Given the description of an element on the screen output the (x, y) to click on. 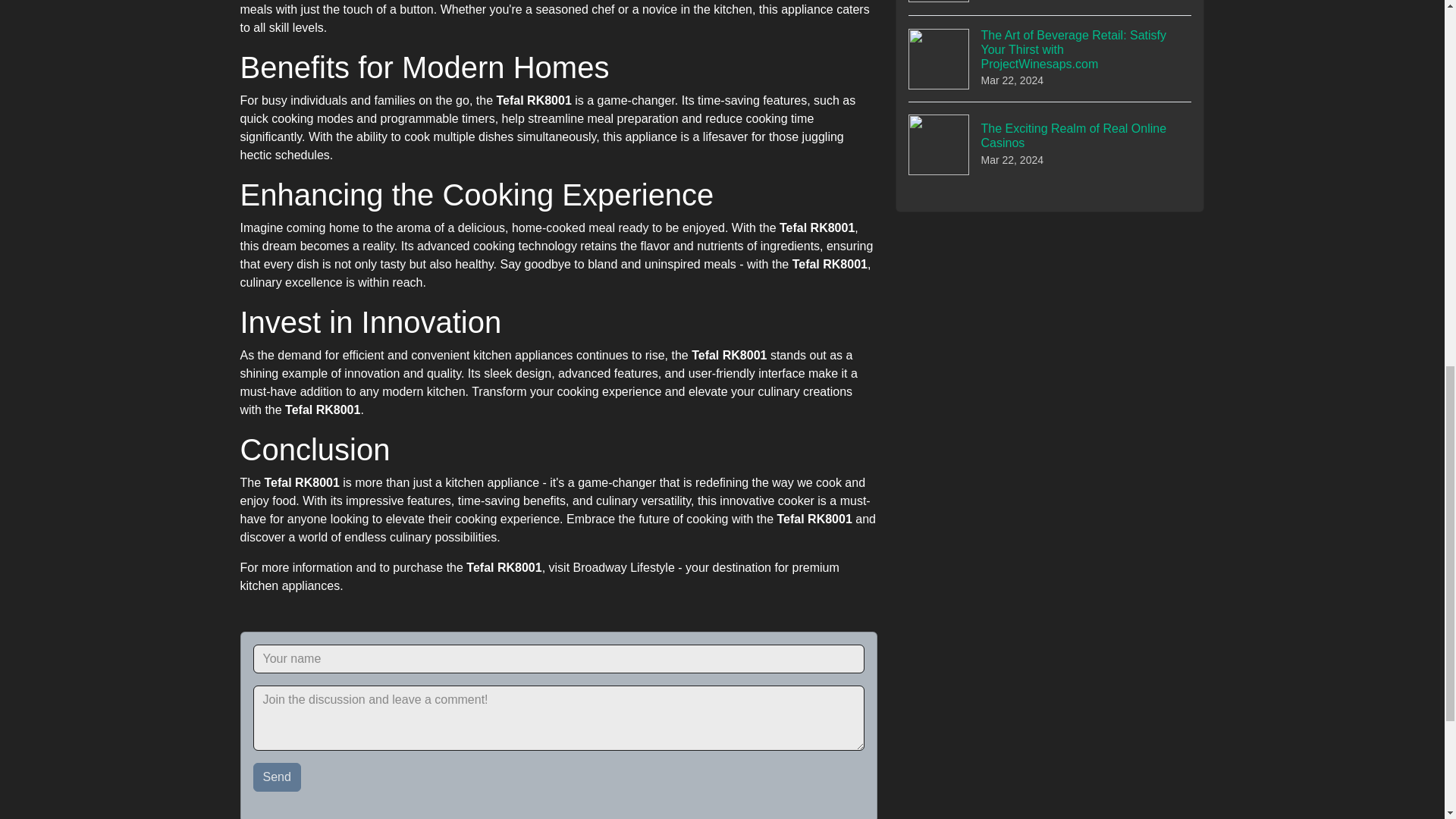
Send (277, 776)
Send (277, 776)
